Given the description of an element on the screen output the (x, y) to click on. 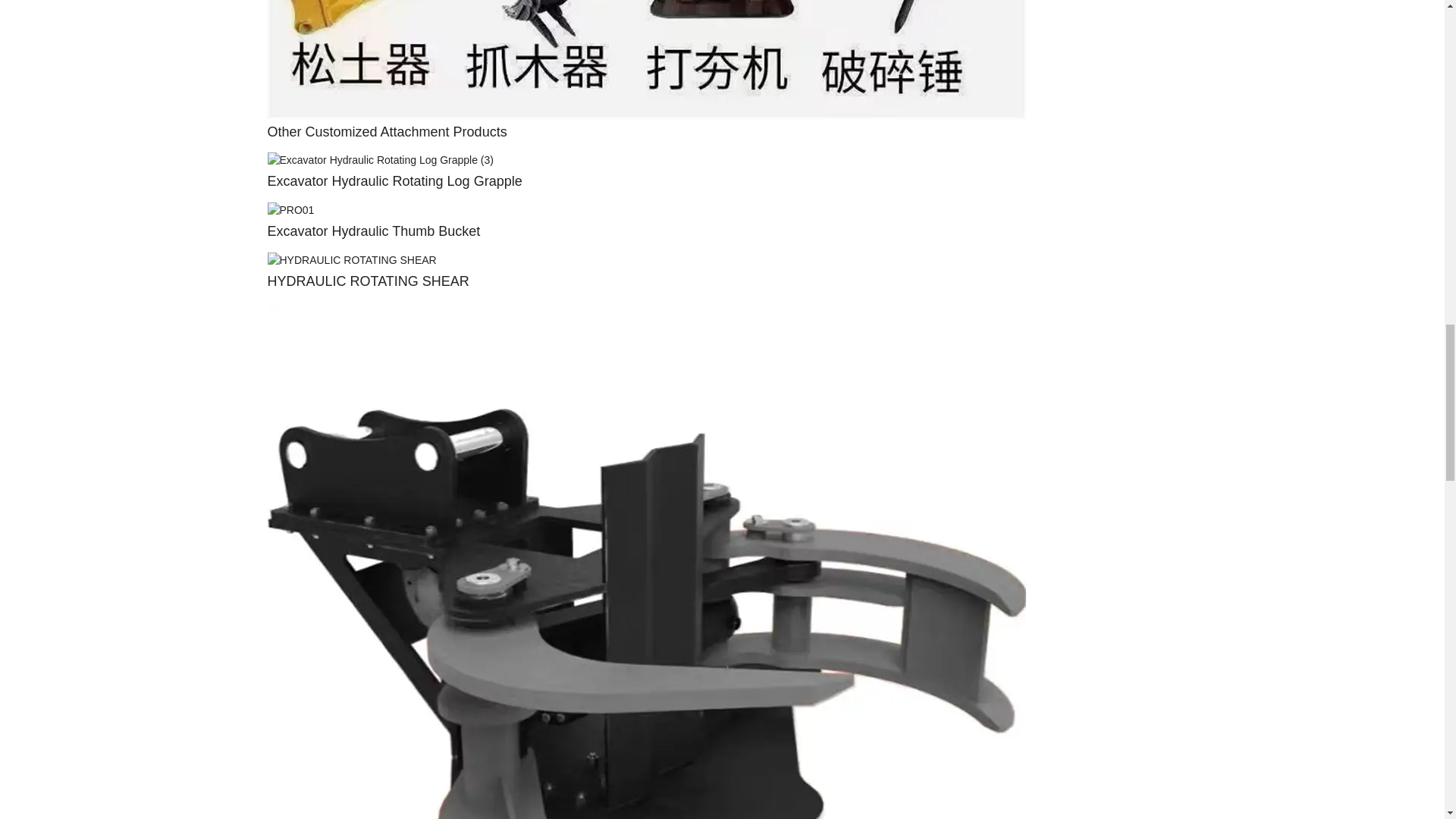
Excavator Hydraulic Rotating Log Grapple (393, 181)
Other Customized Attachment Products (386, 131)
Excavator Hydraulic Rotating Log Grapple (379, 159)
Excavator Hydraulic Thumb Bucket (290, 209)
HYDRAULIC ROTATING SHEAR  (367, 281)
Excavator Hydraulic Thumb Bucket (373, 231)
HYDRAULIC ROTATING SHEAR  (350, 259)
